Given the description of an element on the screen output the (x, y) to click on. 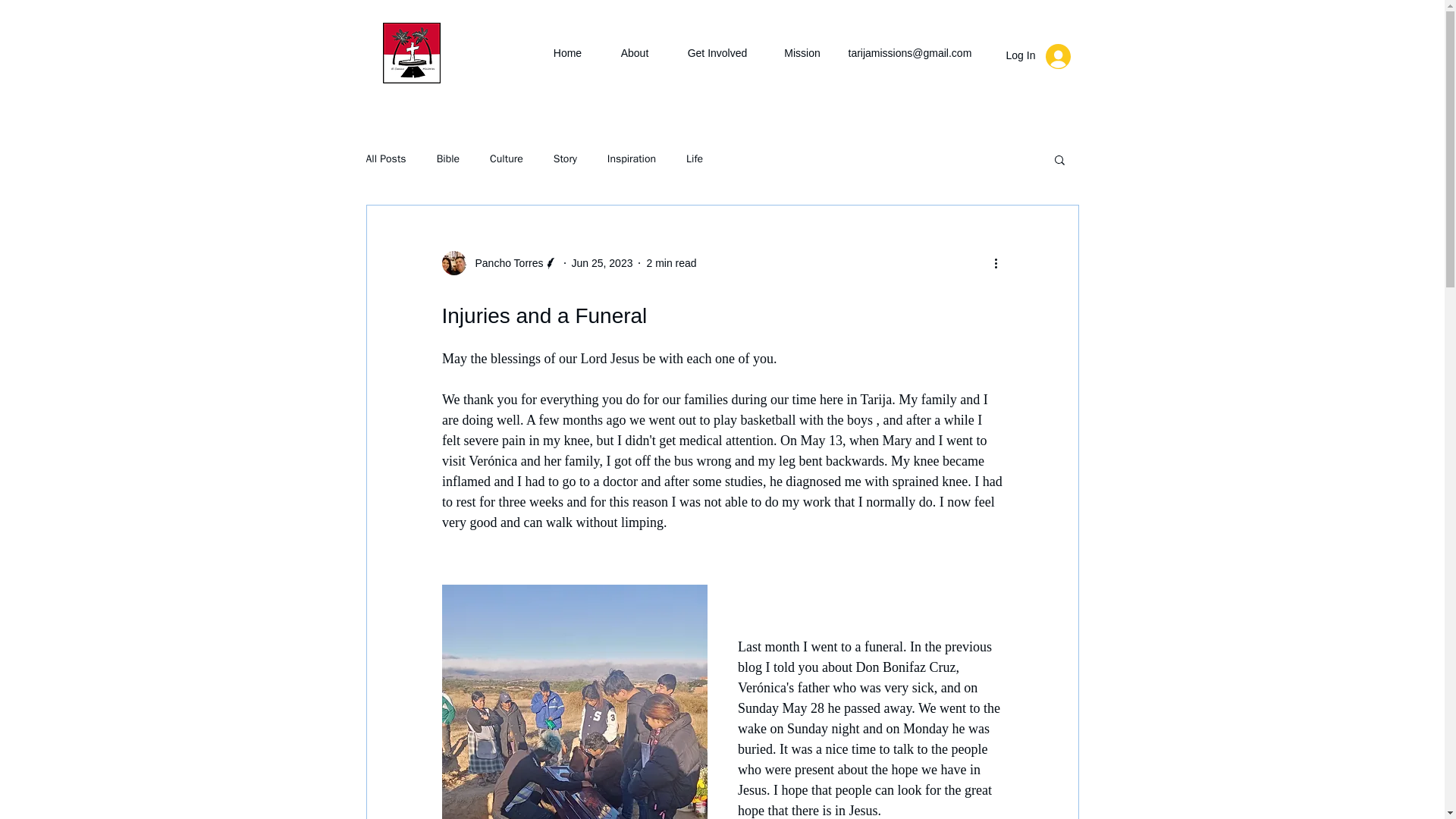
Home (566, 52)
About (633, 52)
Log In (1037, 56)
Jun 25, 2023 (602, 263)
Mission (801, 52)
Story (564, 159)
Culture (505, 159)
Get Involved (717, 52)
2 min read (670, 263)
Bible (448, 159)
Life (694, 159)
Inspiration (631, 159)
Pancho Torres (499, 262)
All Posts (385, 159)
Pancho Torres (504, 263)
